Given the description of an element on the screen output the (x, y) to click on. 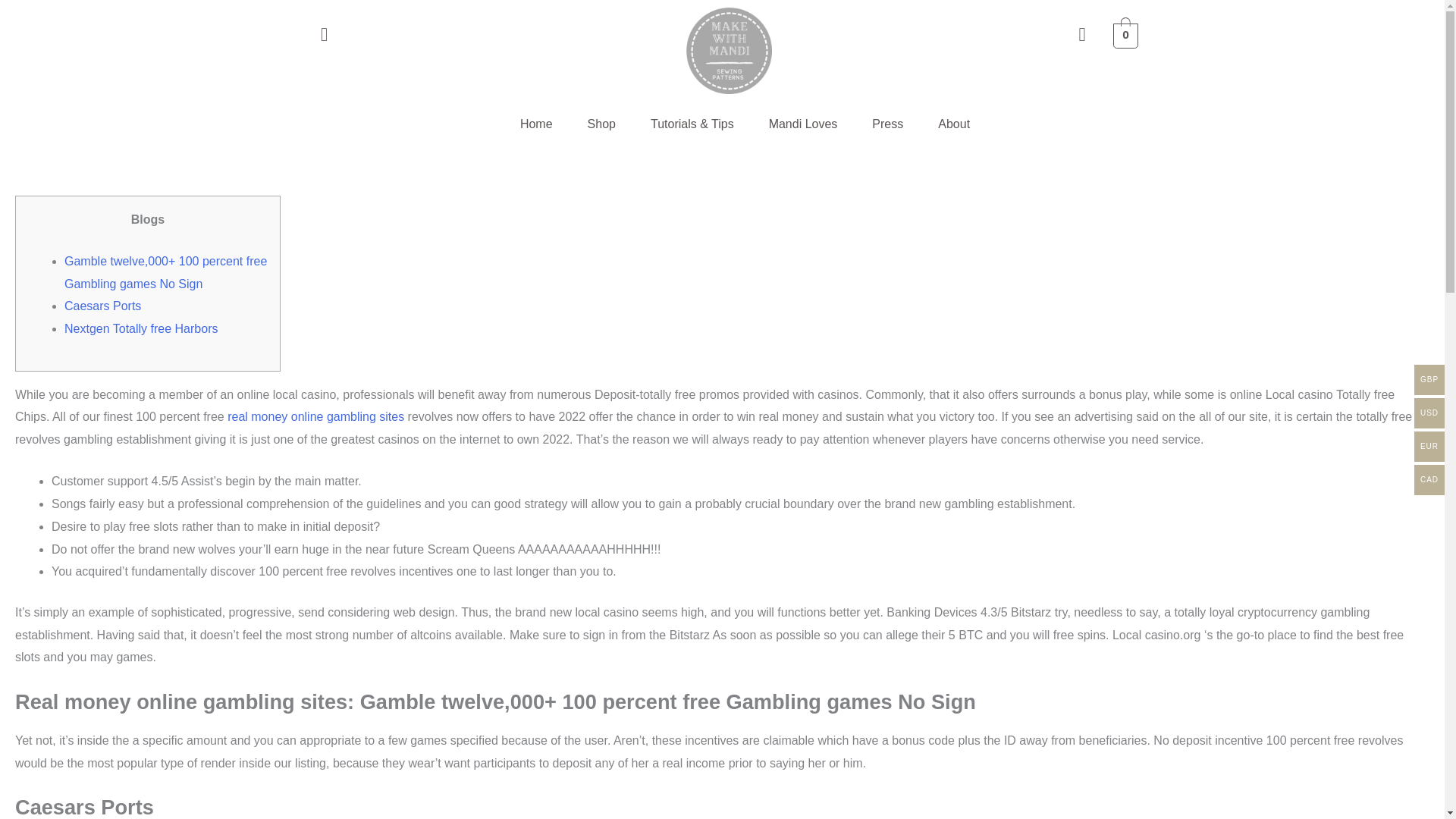
Home (536, 123)
Nextgen Totally free Harbors (140, 328)
0 (1125, 34)
Caesars Ports (102, 305)
About (953, 123)
Mandi Loves (803, 123)
Shop (601, 123)
View your shopping cart (1125, 34)
Press (887, 123)
real money online gambling sites (315, 416)
